Given the description of an element on the screen output the (x, y) to click on. 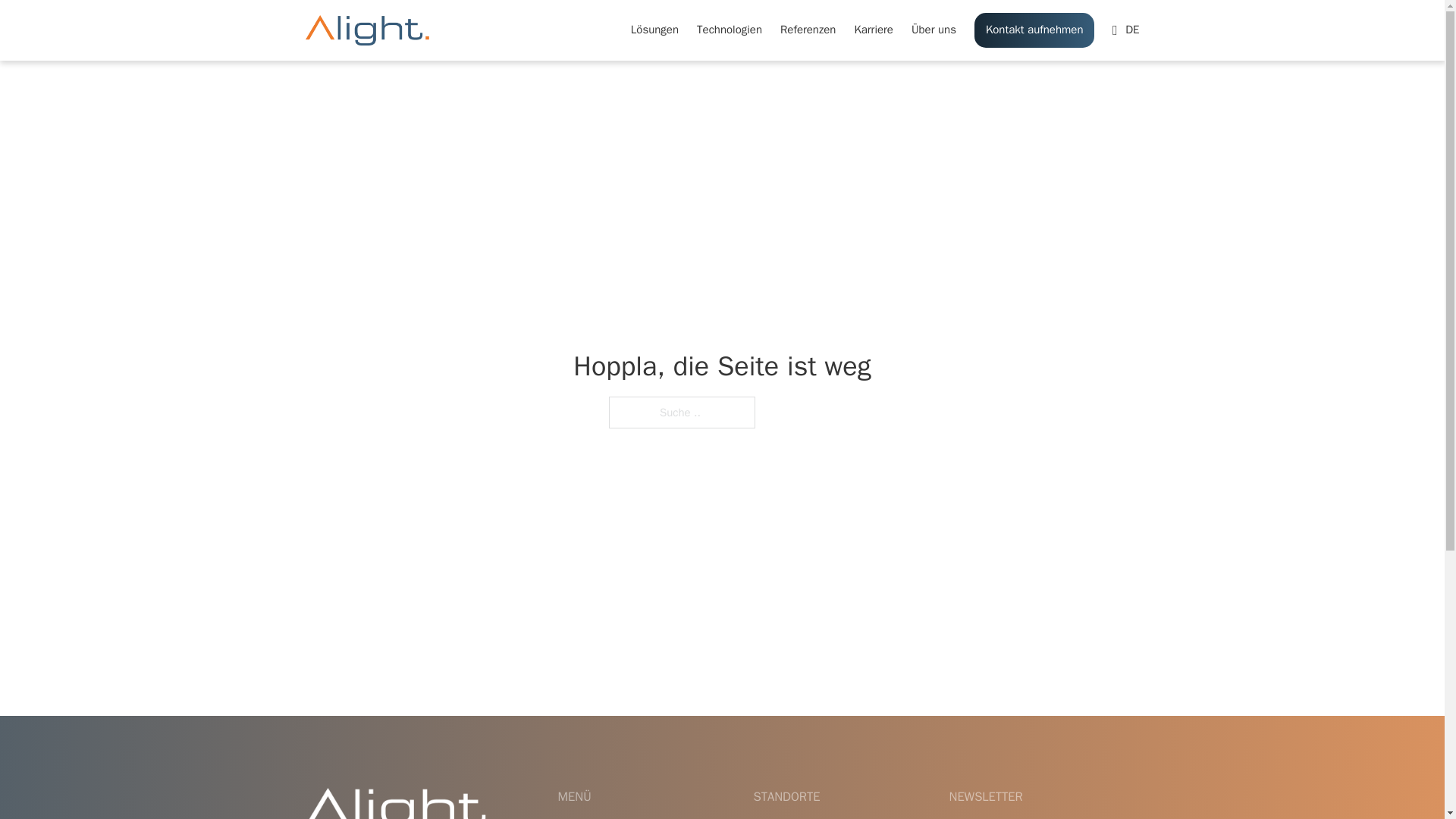
Kontakt aufnehmen (1034, 30)
Technologien (729, 30)
Referenzen (807, 30)
Karriere (873, 30)
